Given the description of an element on the screen output the (x, y) to click on. 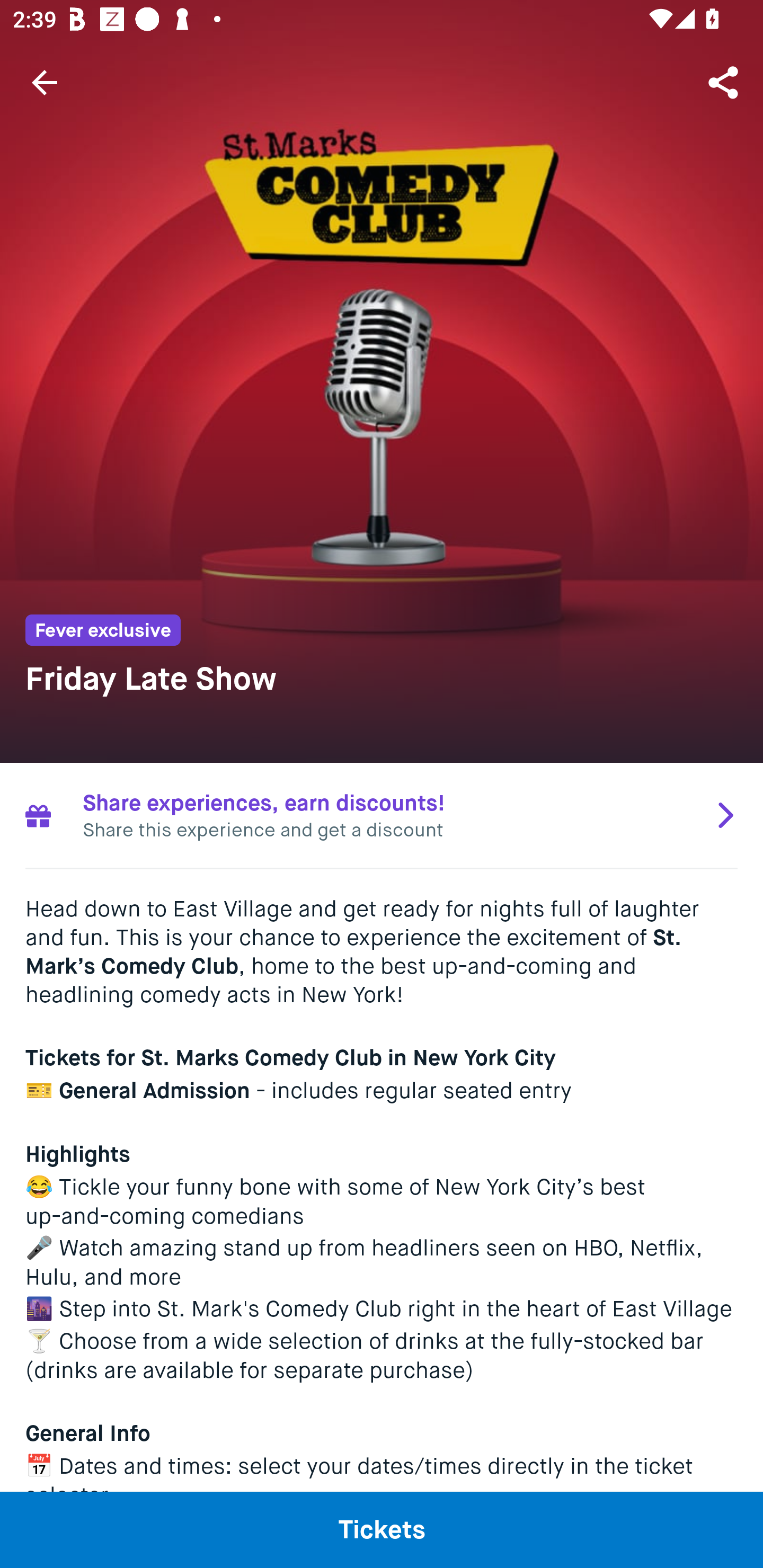
Navigate up (44, 82)
Share (724, 81)
Tickets (381, 1529)
